Given the description of an element on the screen output the (x, y) to click on. 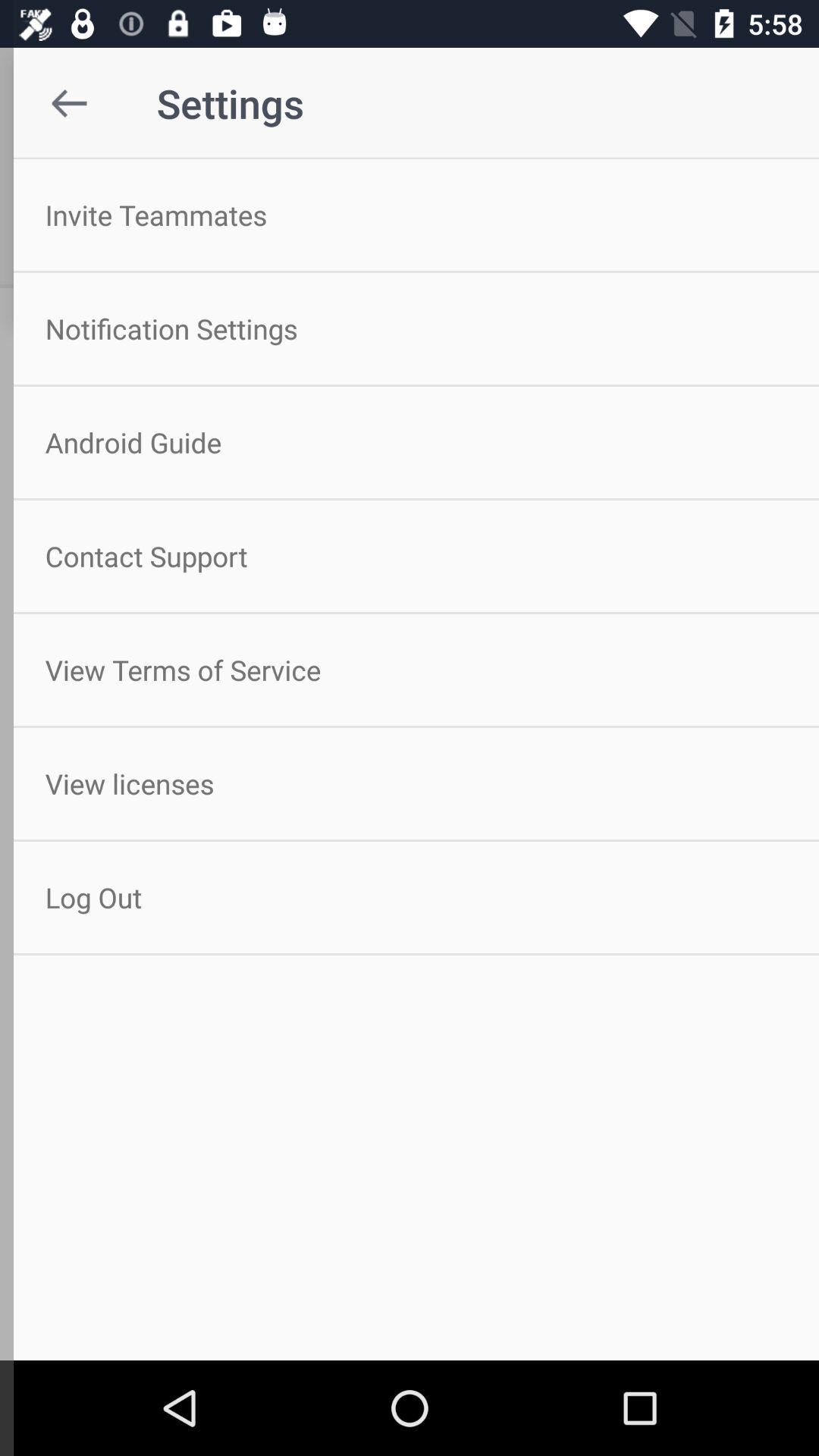
open the icon below notification settings item (409, 442)
